Given the description of an element on the screen output the (x, y) to click on. 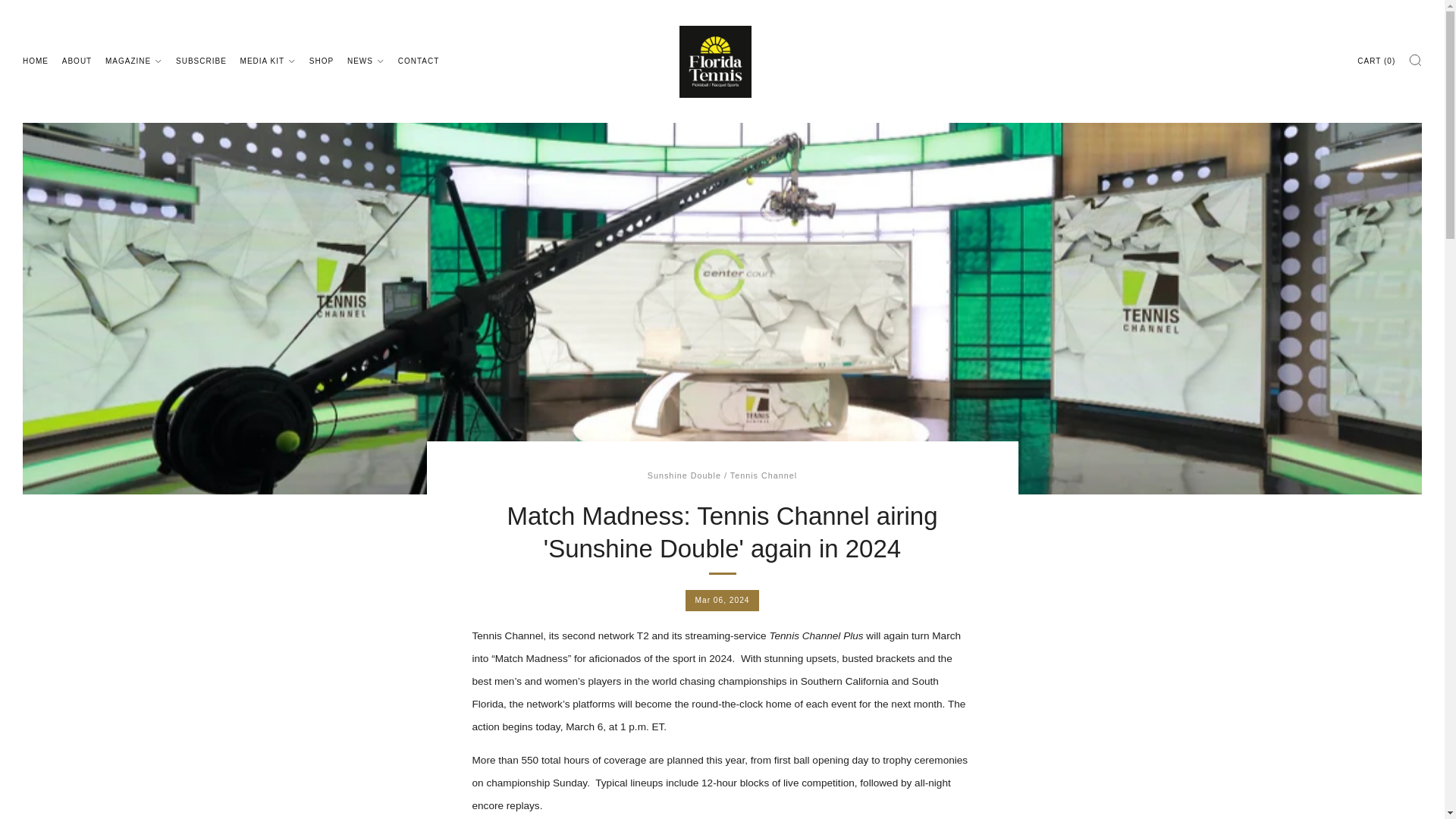
ABOUT (76, 60)
Show articles tagged Sunshine Double (683, 474)
MEDIA KIT (267, 60)
HOME (35, 60)
SUBSCRIBE (201, 60)
CONTACT (418, 60)
NEWS (365, 60)
Show articles tagged Tennis Channel (763, 474)
SHOP (320, 60)
MAGAZINE (132, 60)
